Given the description of an element on the screen output the (x, y) to click on. 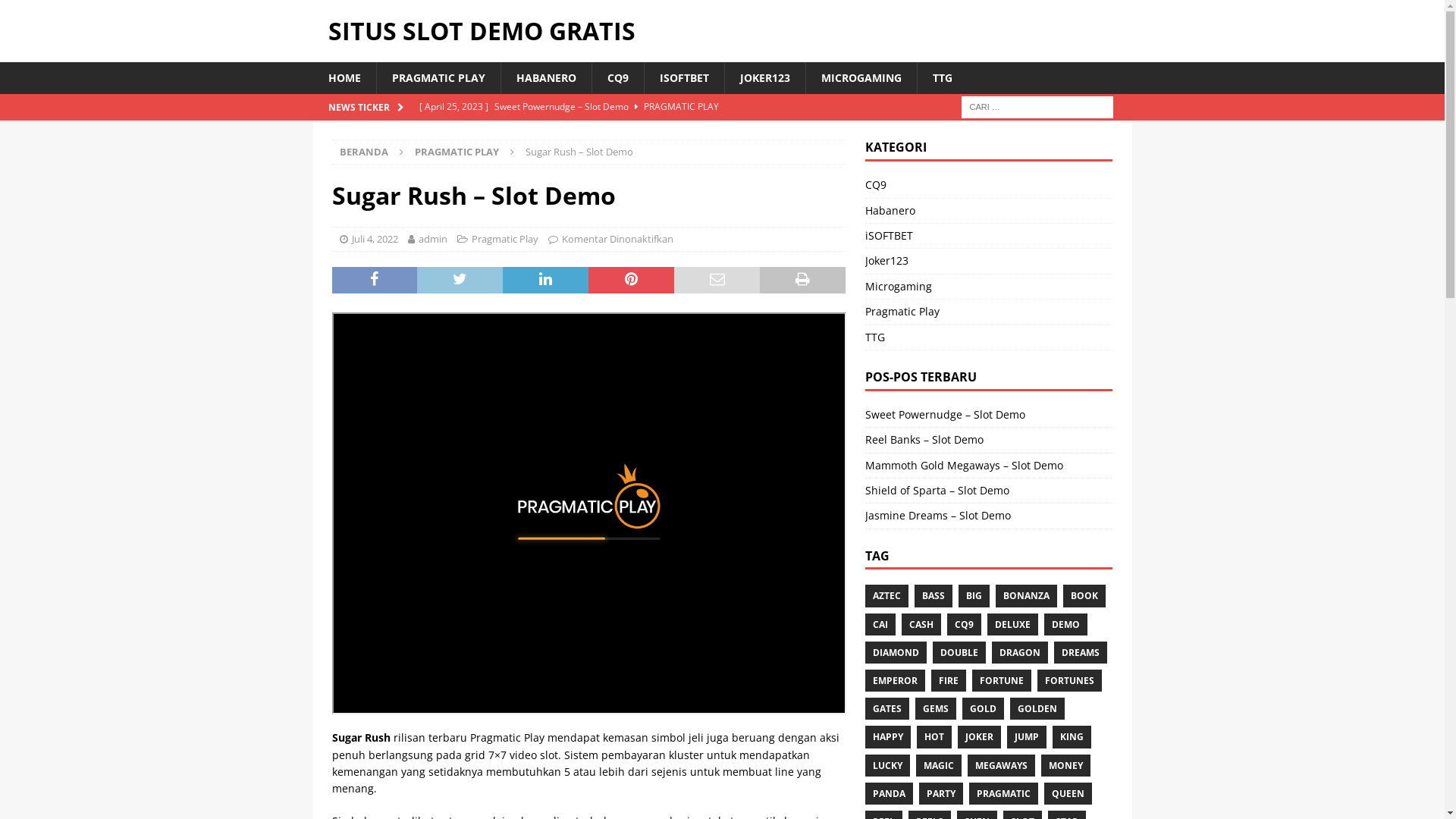
CQ9 Element type: text (617, 78)
KING Element type: text (1071, 736)
TTG Element type: text (941, 78)
DOUBLE Element type: text (958, 652)
CAI Element type: text (880, 624)
PRAGMATIC PLAY Element type: text (456, 151)
PRAGMATIC Element type: text (1003, 793)
GOLDEN Element type: text (1037, 708)
HOME Element type: text (343, 78)
JOKER123 Element type: text (763, 78)
CQ9 Element type: text (988, 186)
BOOK Element type: text (1084, 595)
FORTUNE Element type: text (1001, 680)
SITUS SLOT DEMO GRATIS Element type: text (721, 30)
EMPEROR Element type: text (895, 680)
PANDA Element type: text (889, 793)
admin Element type: text (432, 238)
MONEY Element type: text (1065, 765)
LUCKY Element type: text (887, 765)
FORTUNES Element type: text (1069, 680)
Cari Element type: text (56, 11)
iSOFTBET Element type: text (988, 235)
Juli 4, 2022 Element type: text (374, 238)
CASH Element type: text (921, 624)
Joker123 Element type: text (988, 260)
PARTY Element type: text (941, 793)
Habanero Element type: text (988, 210)
TTG Element type: text (988, 337)
MICROGAMING Element type: text (860, 78)
MAGIC Element type: text (938, 765)
Microgaming Element type: text (988, 286)
DEMO Element type: text (1065, 624)
BONANZA Element type: text (1026, 595)
DIAMOND Element type: text (895, 652)
BERANDA Element type: text (363, 151)
MEGAWAYS Element type: text (1001, 765)
DRAGON Element type: text (1019, 652)
DREAMS Element type: text (1080, 652)
HOT Element type: text (933, 736)
JUMP Element type: text (1026, 736)
GATES Element type: text (887, 708)
Pragmatic Play Element type: text (988, 311)
PRAGMATIC PLAY Element type: text (438, 78)
JOKER Element type: text (979, 736)
BIG Element type: text (973, 595)
FIRE Element type: text (948, 680)
DELUXE Element type: text (1012, 624)
QUEEN Element type: text (1068, 793)
Pragmatic Play Element type: text (504, 238)
BASS Element type: text (933, 595)
HABANERO Element type: text (545, 78)
CQ9 Element type: text (964, 624)
GEMS Element type: text (935, 708)
GOLD Element type: text (983, 708)
HAPPY Element type: text (887, 736)
AZTEC Element type: text (886, 595)
ISOFTBET Element type: text (683, 78)
